Given the description of an element on the screen output the (x, y) to click on. 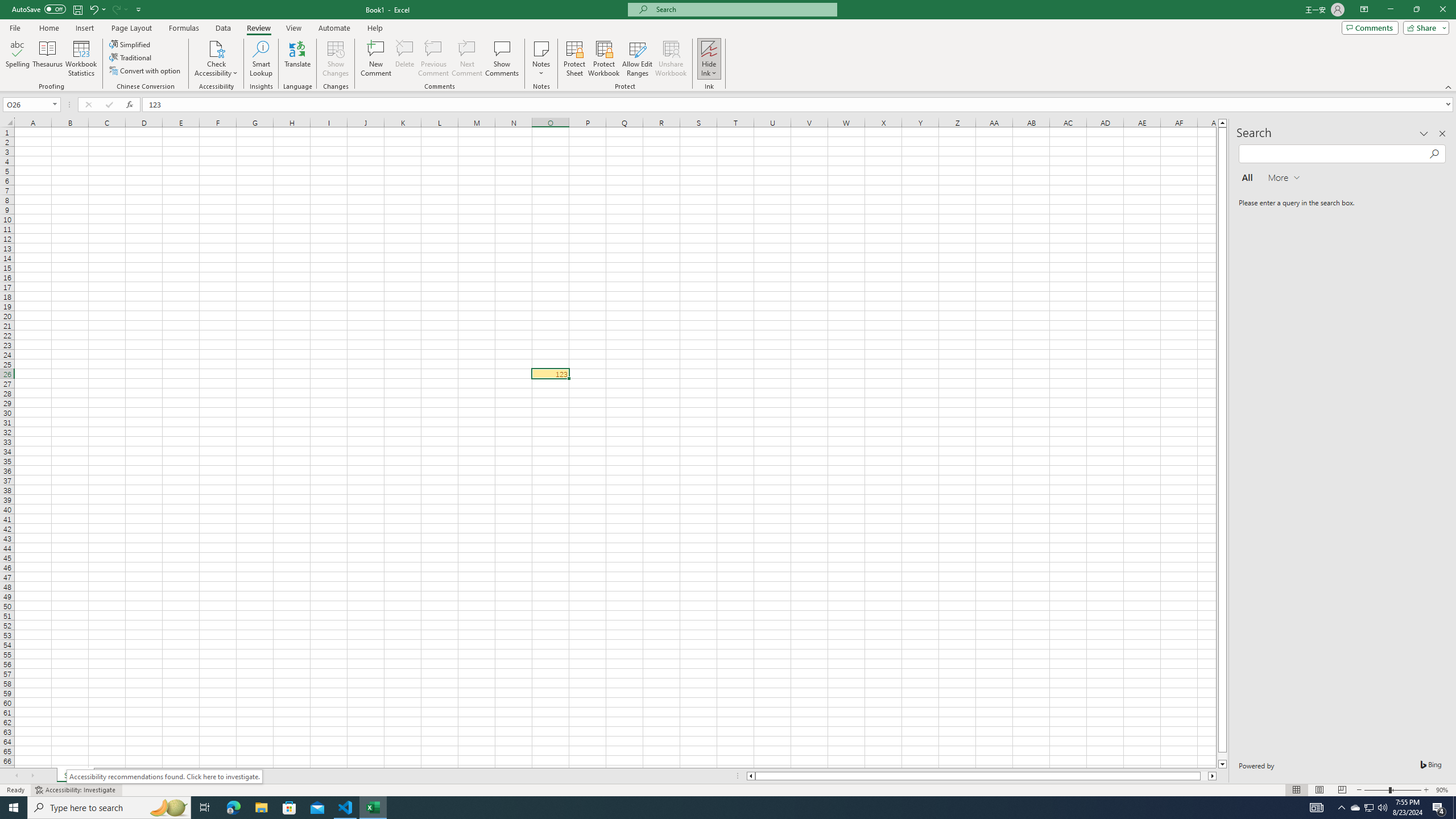
Show Changes (335, 58)
Previous Comment (432, 58)
Smart Lookup (260, 58)
Workbook Statistics (81, 58)
